Given the description of an element on the screen output the (x, y) to click on. 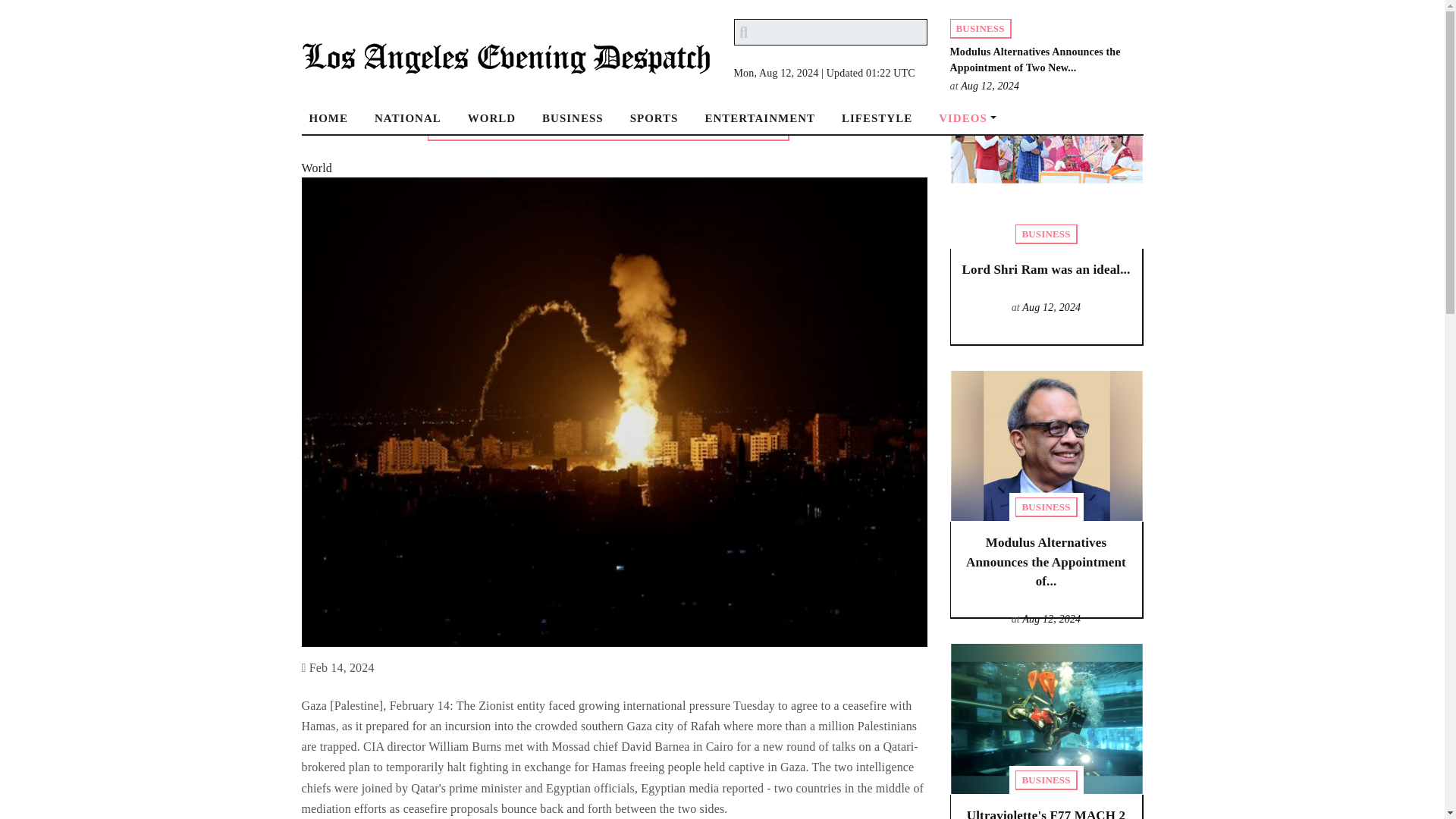
Ultraviolette's F77 MACH 2 Makes Waves... (1045, 813)
BUSINESS (578, 123)
ENTERTAINMENT (765, 123)
LIFESTYLE (882, 123)
BUSINESS (1045, 234)
HOME (334, 123)
NATIONAL (413, 123)
BUSINESS (1045, 506)
BUSINESS (979, 28)
VIDEOS (972, 123)
